Given the description of an element on the screen output the (x, y) to click on. 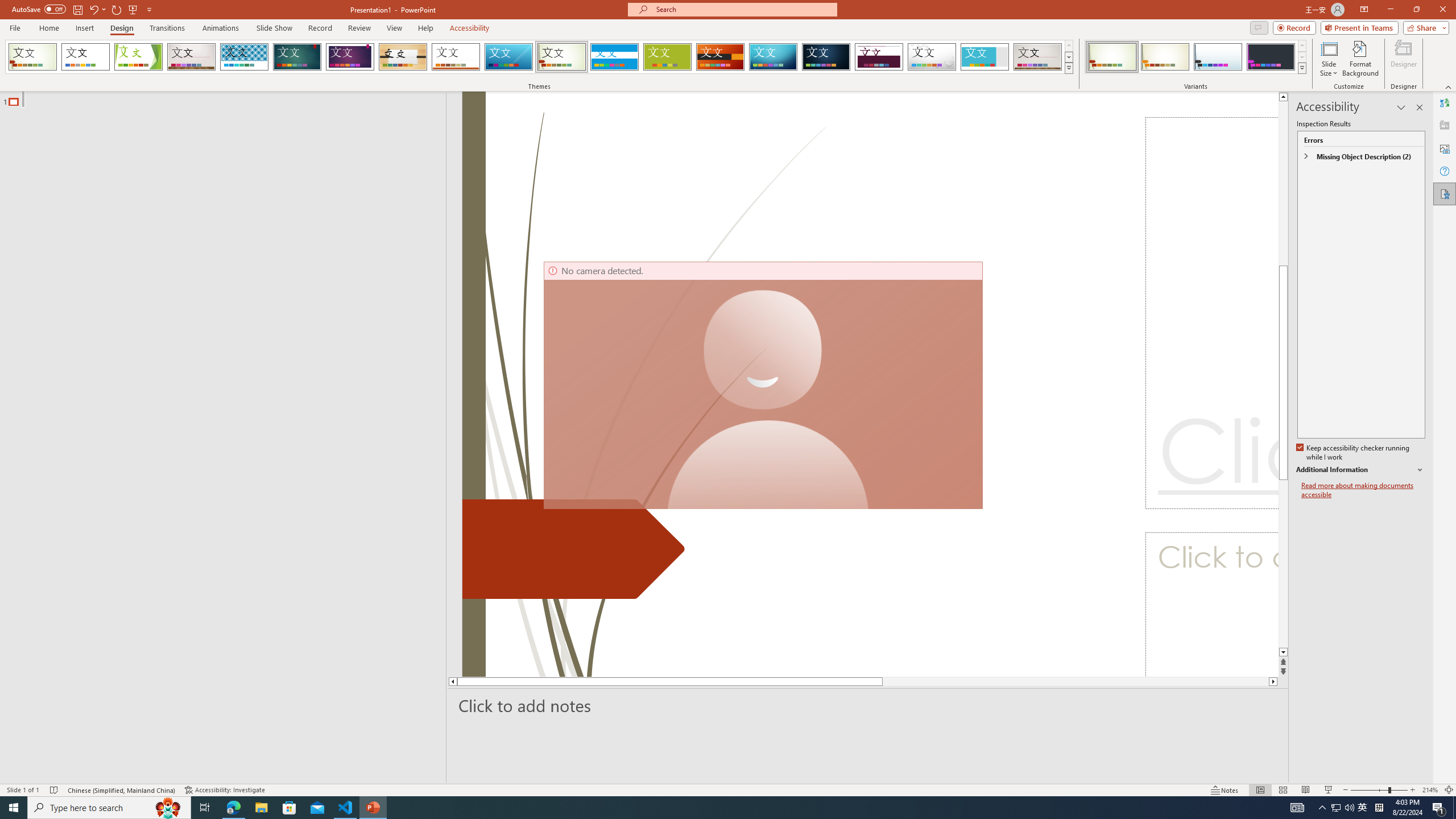
Themes (1068, 67)
Zoom 214% (1430, 790)
Camera 7, No camera detected. (762, 385)
Slice (508, 56)
Format Background (1360, 58)
Berlin (720, 56)
Dividend (879, 56)
Office Theme (85, 56)
